Given the description of an element on the screen output the (x, y) to click on. 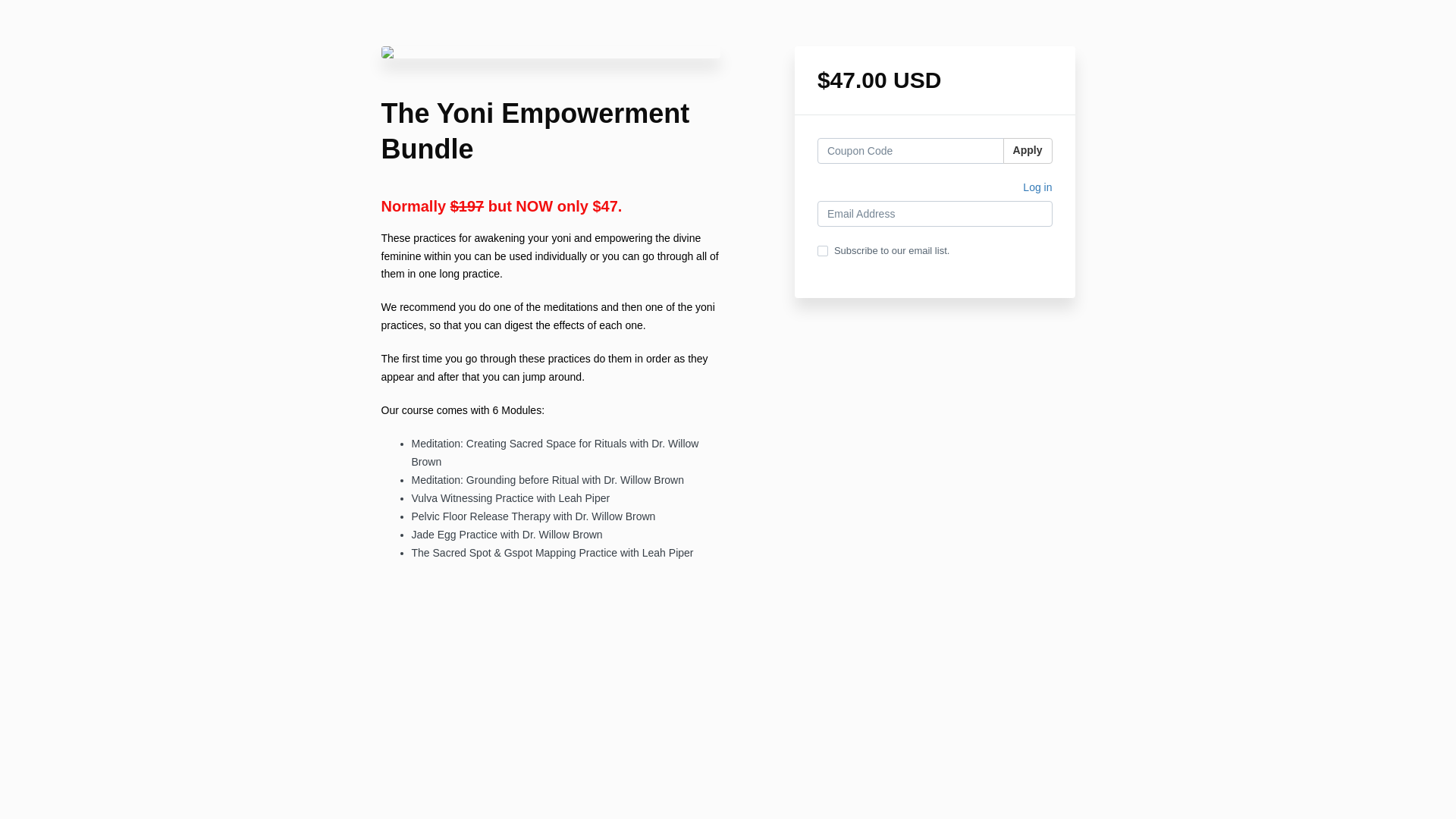
Apply (1027, 150)
1 (822, 250)
Log in (1037, 189)
